Given the description of an element on the screen output the (x, y) to click on. 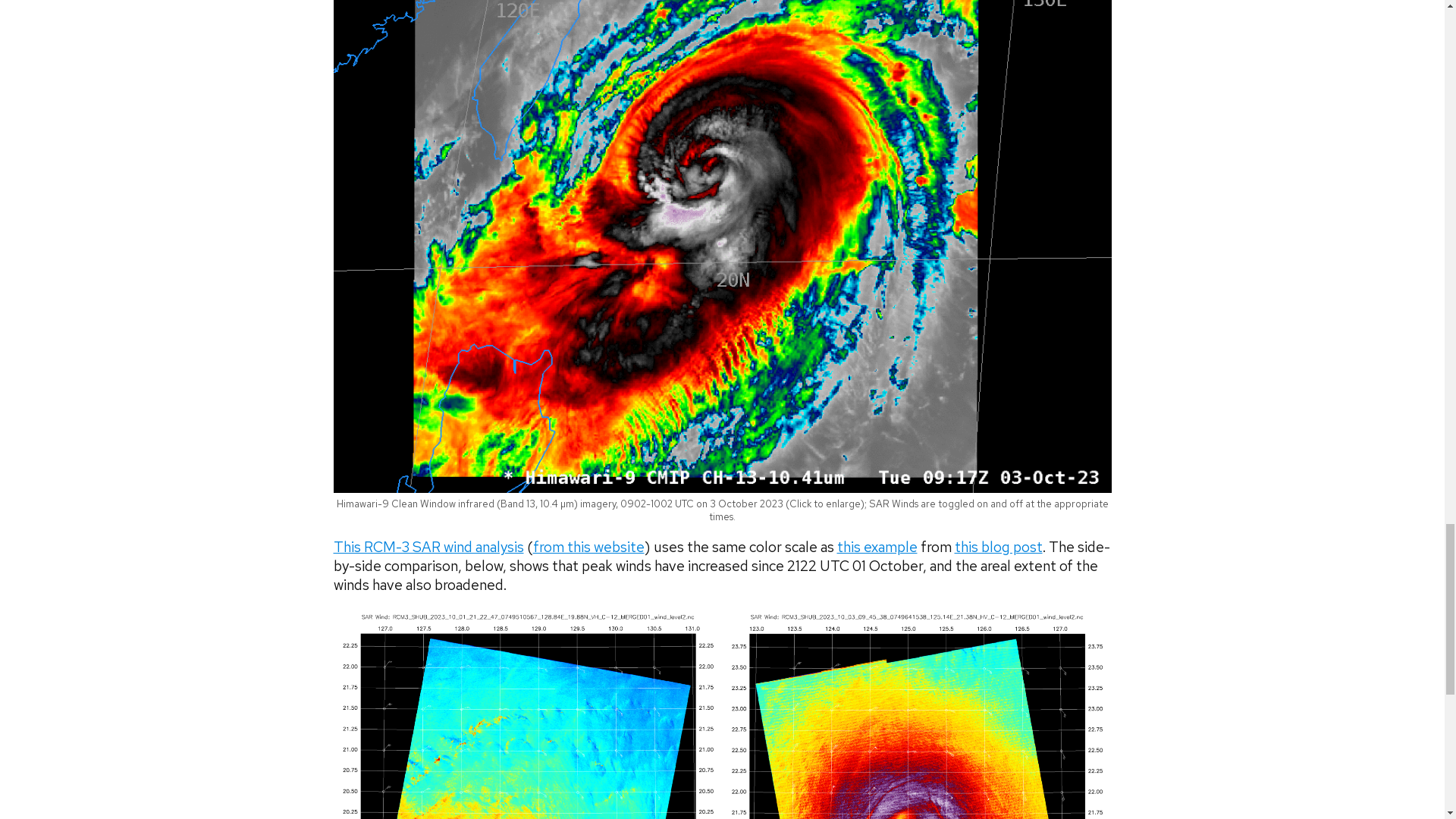
this example (877, 546)
from this website (587, 546)
This RCM-3 SAR wind analysis (428, 546)
this blog post (997, 546)
